Given the description of an element on the screen output the (x, y) to click on. 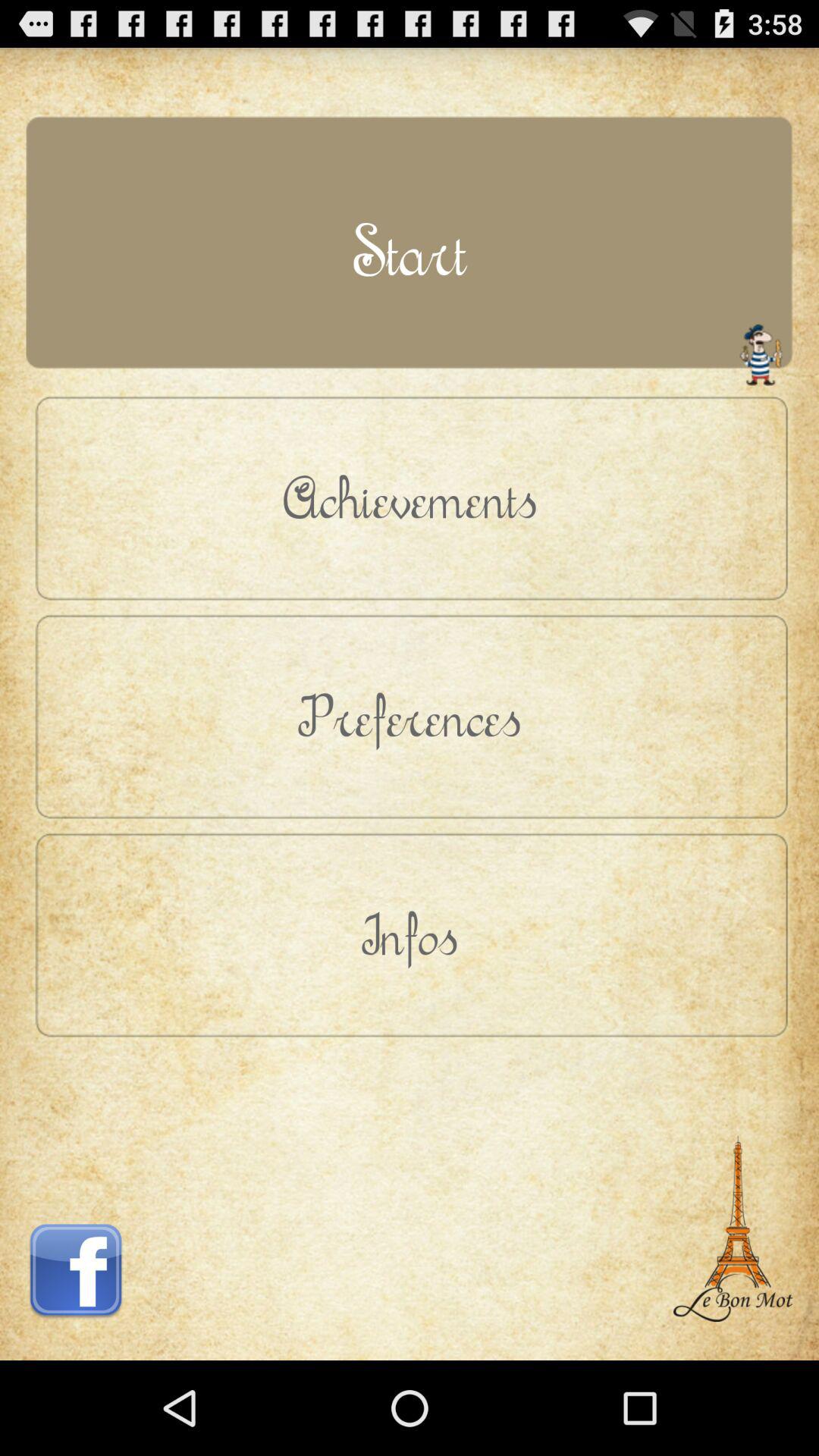
swipe until preferences item (409, 716)
